Given the description of an element on the screen output the (x, y) to click on. 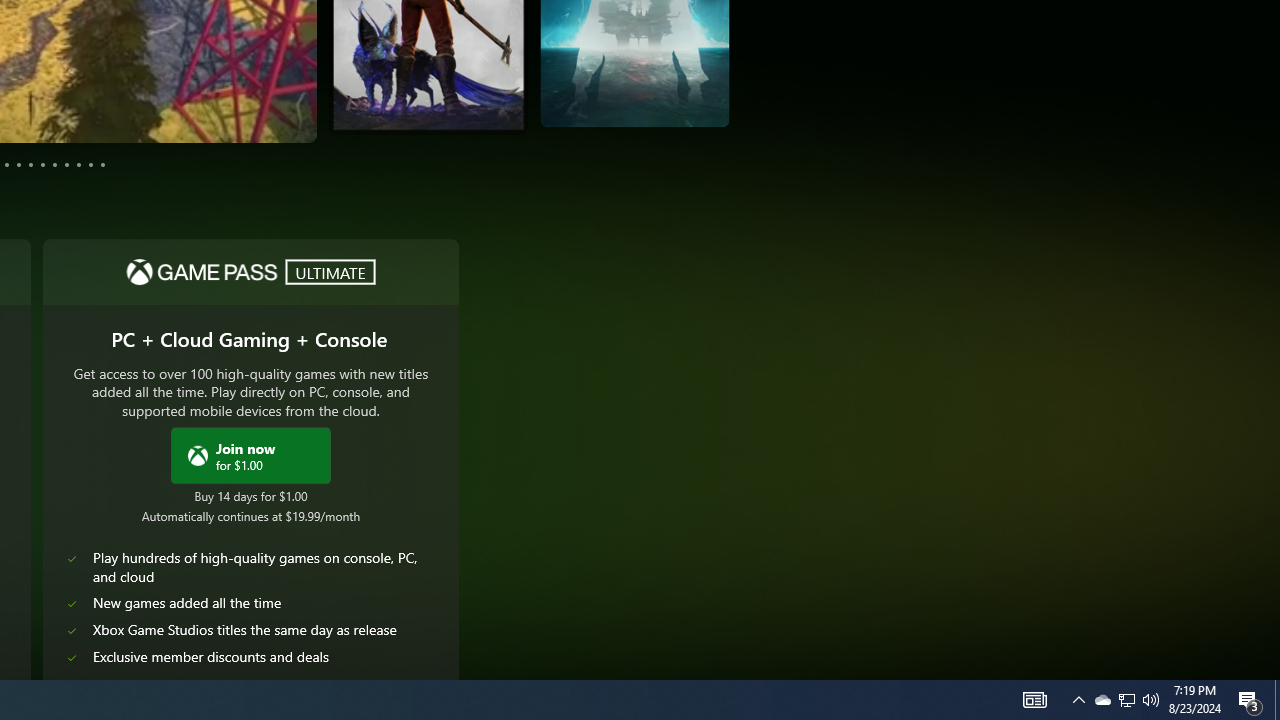
Join Xbox Game Pass Ultimate now for $1.00 (251, 454)
Page 4 (6, 164)
Page 6 (31, 164)
Page 9 (66, 164)
Page 10 (78, 164)
Page 11 (90, 164)
Flintlock: The Siege of Dawn (280, 83)
Play Trailer (659, 101)
Page 12 (102, 164)
Pause Trailer (280, 106)
Page 8 (54, 164)
Page 7 (42, 164)
Rolling Hills: Make Sushi, Make Friends (668, 73)
Page 5 (18, 164)
